Given the description of an element on the screen output the (x, y) to click on. 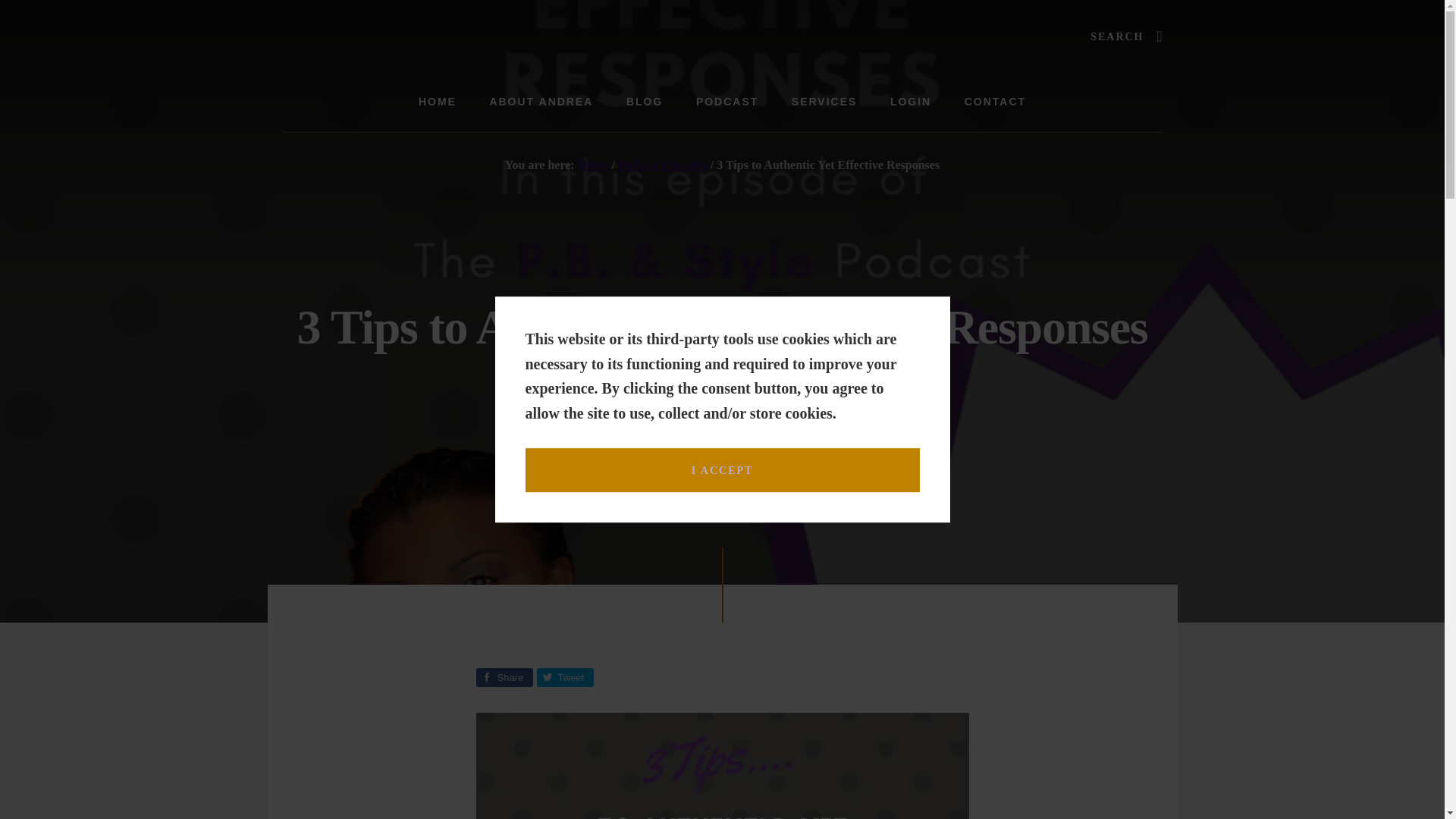
PODCAST (727, 101)
LOGIN (910, 101)
ABOUT ANDREA (541, 101)
Tweet (565, 677)
Leave a Comment (854, 390)
Share (504, 677)
andrea patrick (730, 390)
Home (593, 164)
SERVICES (824, 101)
BLOG (644, 101)
HOME (437, 101)
